Given the description of an element on the screen output the (x, y) to click on. 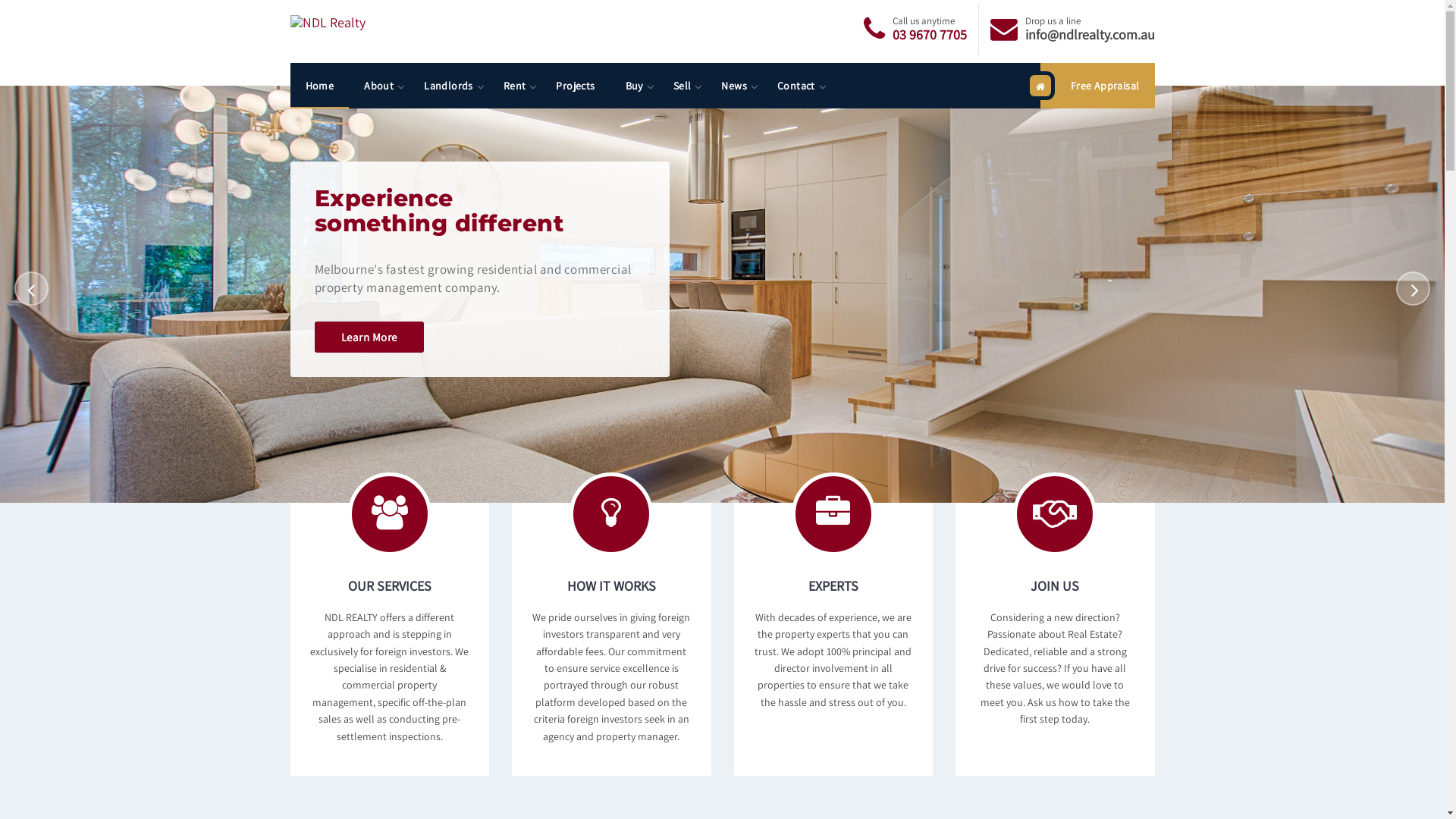
Rent Element type: text (514, 85)
HOW IT WORKS Element type: text (610, 618)
Contact Element type: text (796, 85)
JOIN US Element type: text (1054, 618)
About Element type: text (378, 85)
Buy Element type: text (634, 85)
Home Element type: text (318, 85)
Sell Element type: text (682, 85)
OUR SERVICES Element type: text (389, 618)
Free Appraisal Element type: text (1097, 85)
Learn More Element type: text (368, 336)
Landlords Element type: text (448, 85)
EXPERTS Element type: text (833, 618)
info@ndlrealty.com.au Element type: text (1089, 34)
Projects Element type: text (574, 85)
News Element type: text (734, 85)
03 9670 7705 Element type: text (928, 34)
